Given the description of an element on the screen output the (x, y) to click on. 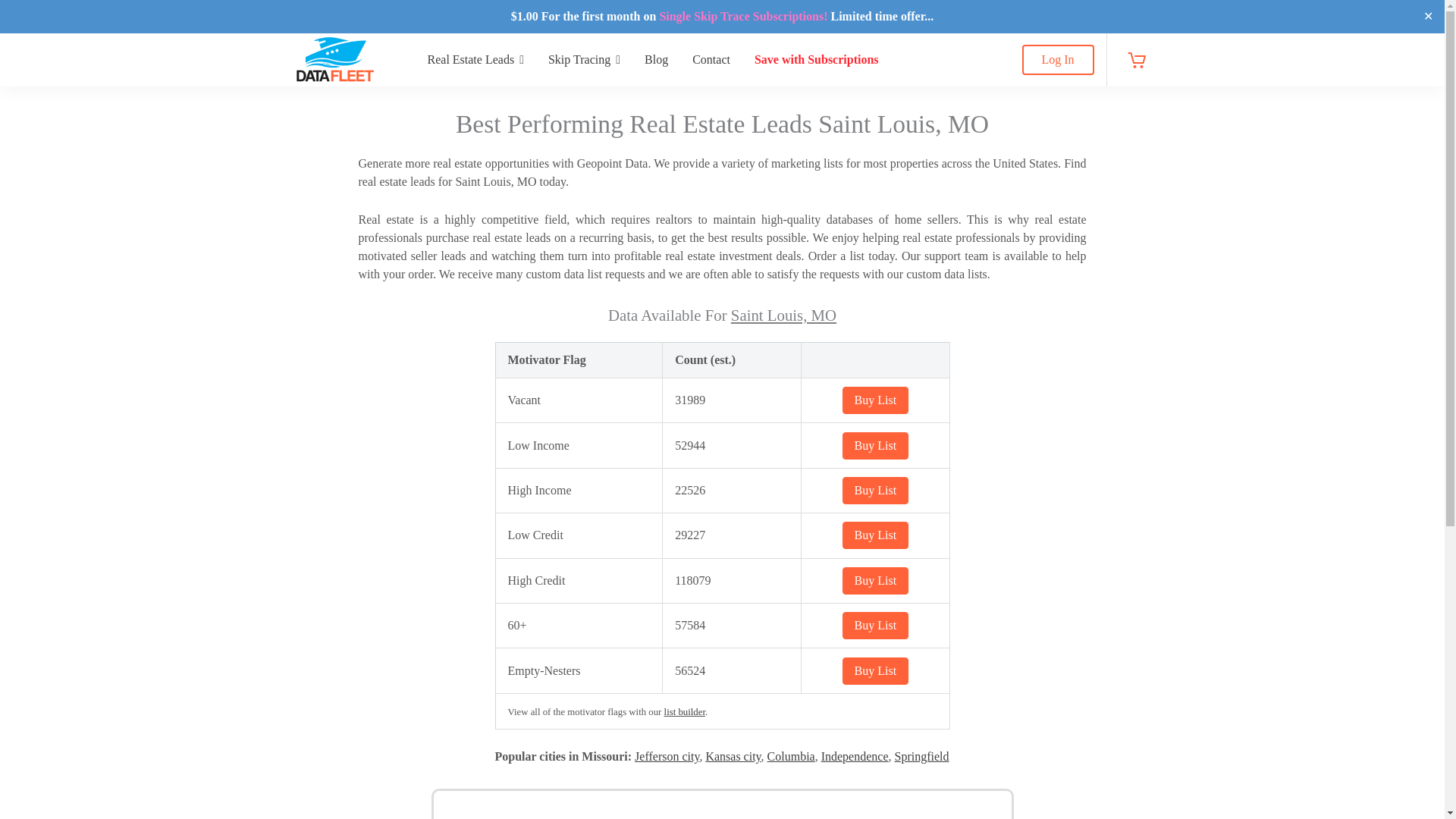
Buy List (875, 580)
Contact (710, 59)
Log In (1058, 60)
Real Estate Leads (474, 59)
Columbia (791, 756)
Independence (854, 756)
Skip Tracing (583, 59)
list builder (683, 711)
Buy List (875, 669)
Save with Subscriptions (816, 59)
